Given the description of an element on the screen output the (x, y) to click on. 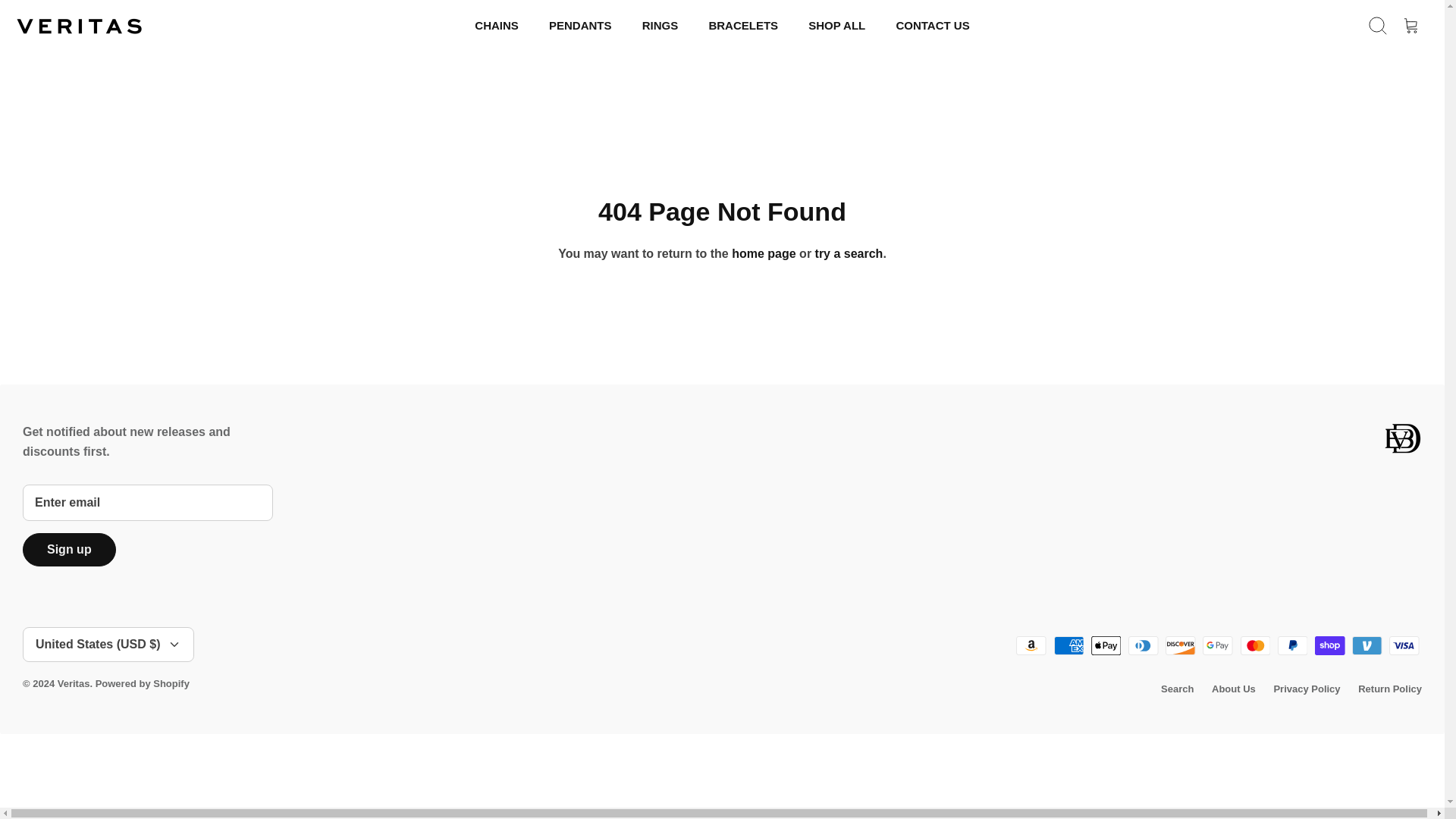
CONTACT US (932, 26)
Cart (1411, 25)
Privacy Policy (1305, 688)
RINGS (660, 26)
Return Policy (1390, 688)
PayPal (1292, 645)
try a search (849, 253)
Visa (1404, 645)
CHAINS (496, 26)
Amazon (1031, 645)
Shop Pay (1329, 645)
About Us (1233, 688)
Discover (1180, 645)
Mastercard (1255, 645)
Search (1377, 25)
